Given the description of an element on the screen output the (x, y) to click on. 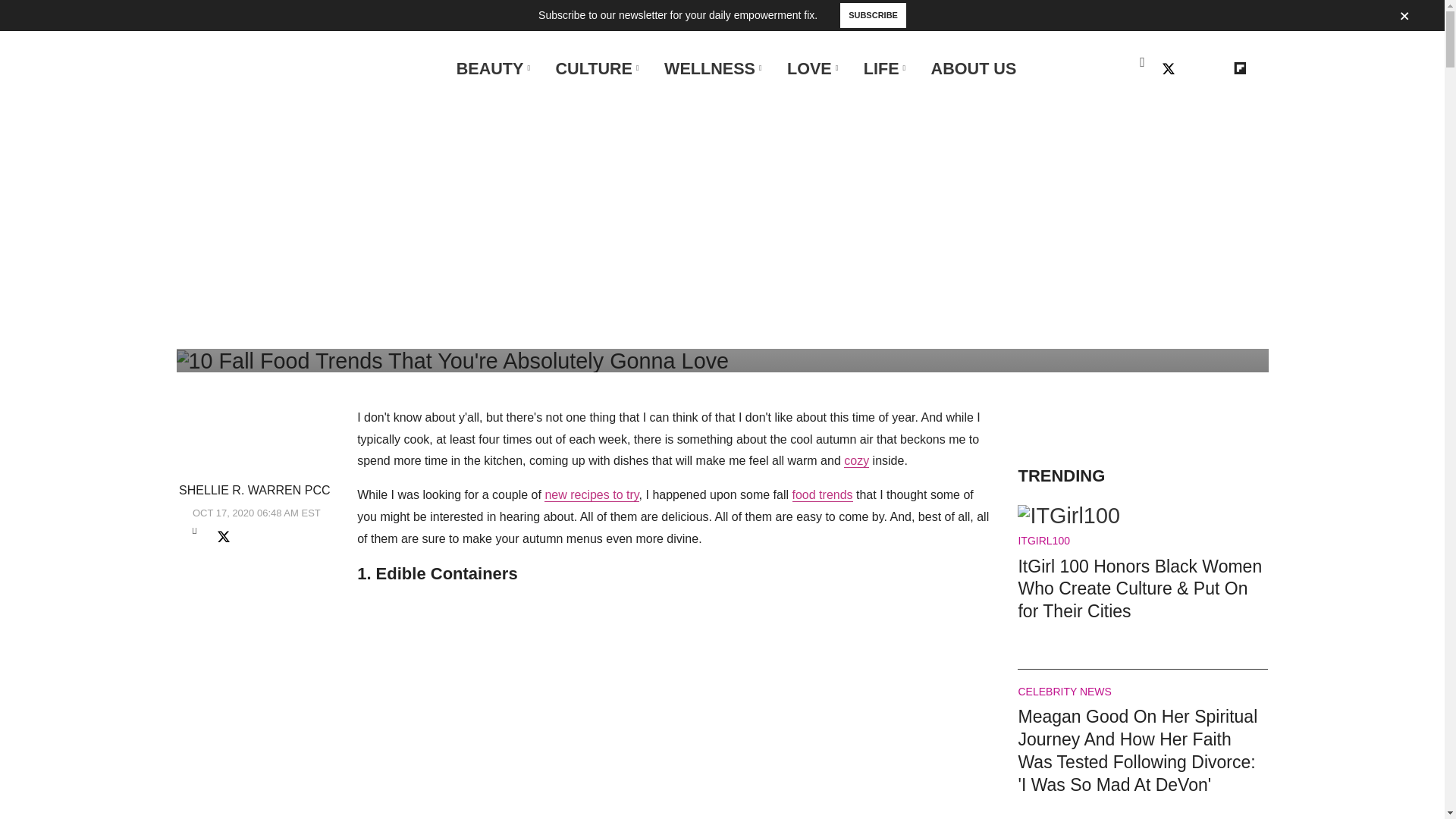
CULTURE (592, 67)
LIFE (881, 67)
BEAUTY (490, 67)
WELLNESS (709, 67)
SUBSCRIBE (873, 14)
Subscribe to our newsletter for your daily empowerment fix. (677, 15)
ABOUT US (973, 67)
LOVE (809, 67)
